Given the description of an element on the screen output the (x, y) to click on. 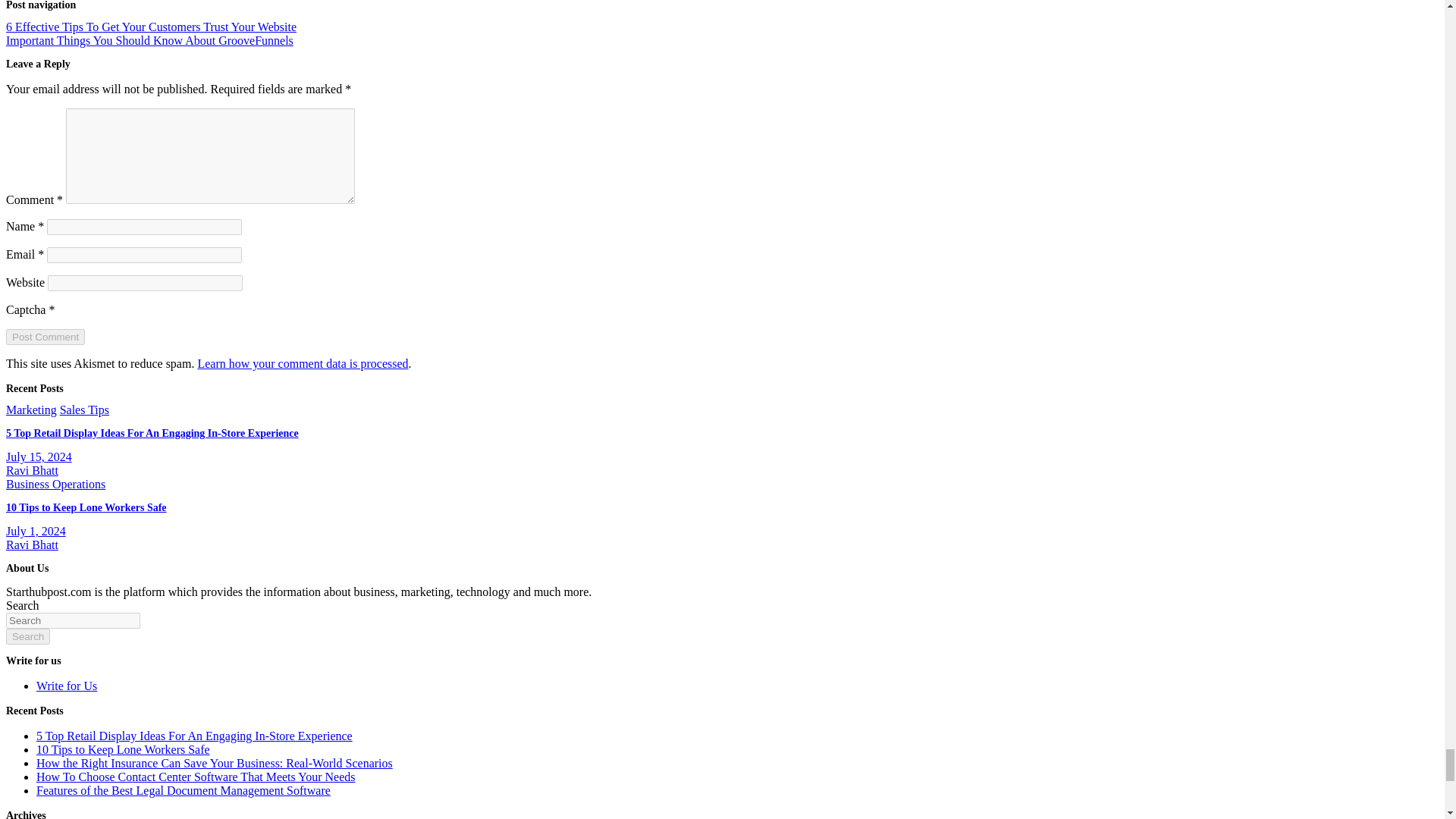
Post Comment (44, 336)
10 Tips to Keep Lone Workers Safe (35, 530)
